Given the description of an element on the screen output the (x, y) to click on. 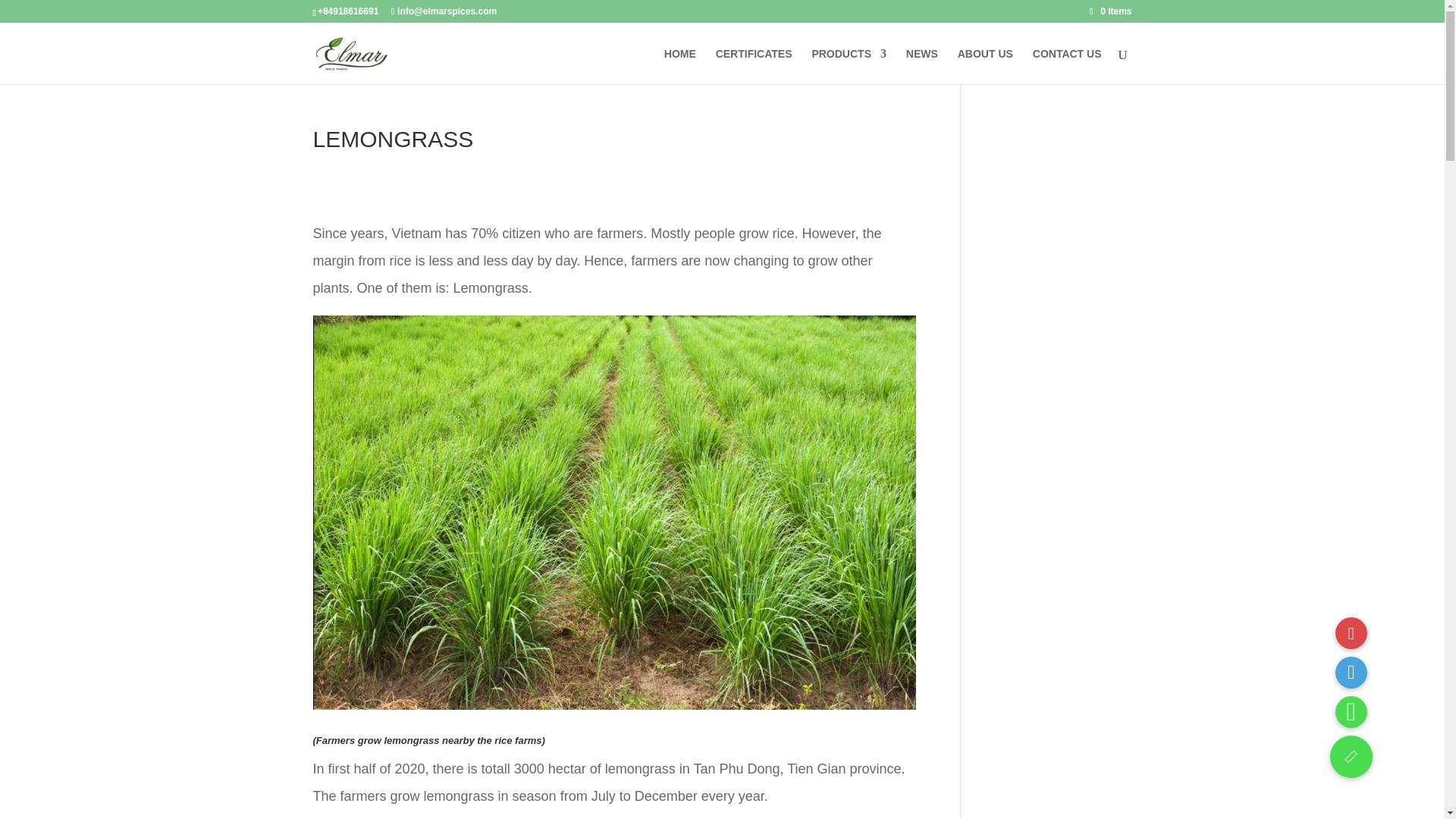
CONTACT US (1067, 66)
ABOUT US (985, 66)
PRODUCTS (848, 66)
CERTIFICATES (754, 66)
0 Items (1110, 10)
HOME (679, 66)
NEWS (921, 66)
